Given the description of an element on the screen output the (x, y) to click on. 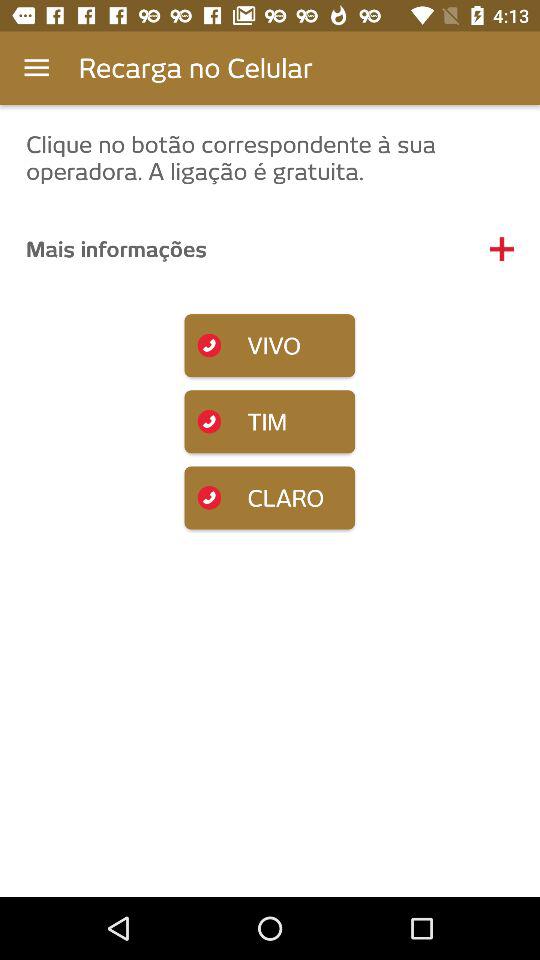
select tim (269, 421)
